Given the description of an element on the screen output the (x, y) to click on. 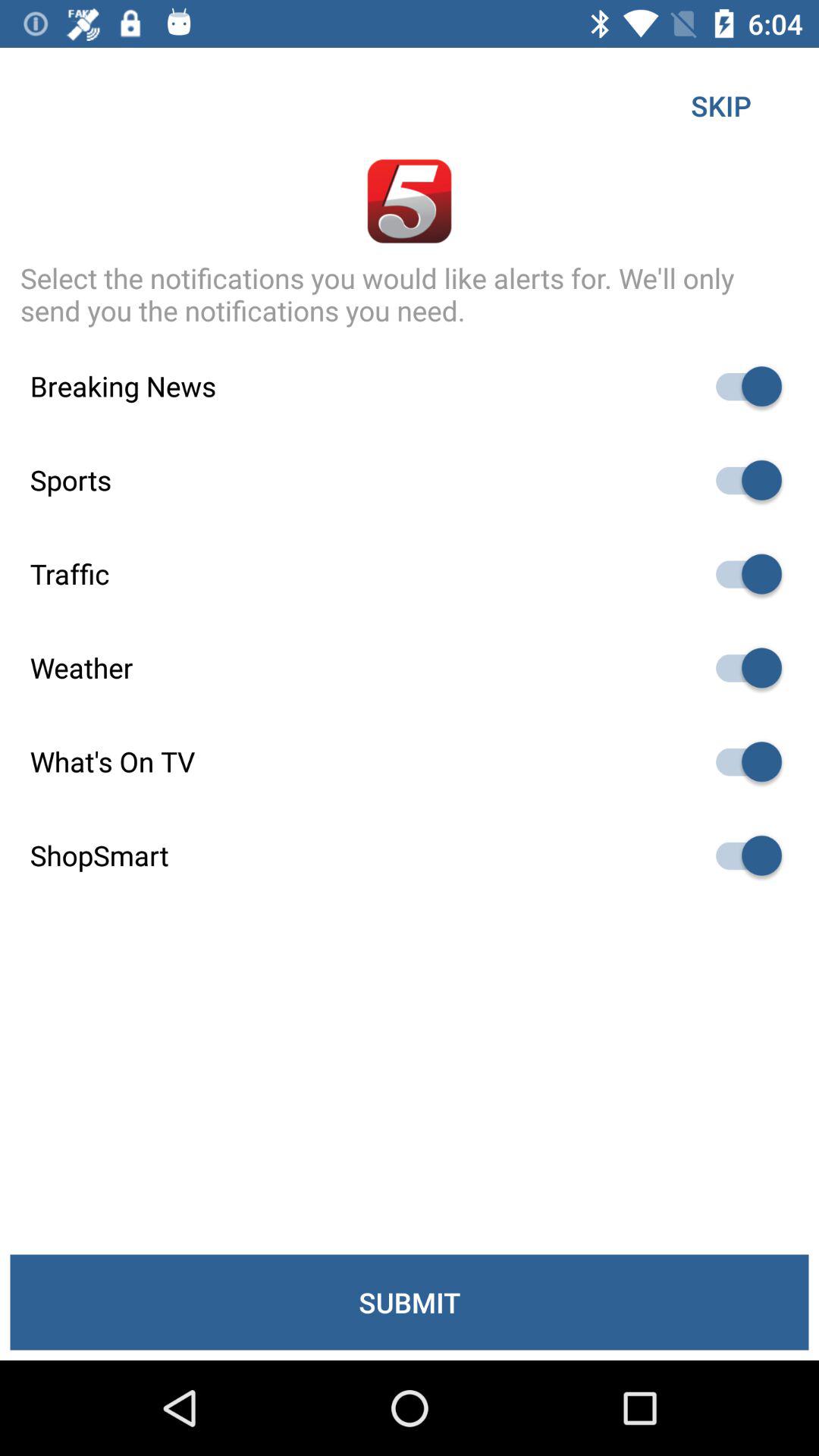
click to shop (741, 855)
